Given the description of an element on the screen output the (x, y) to click on. 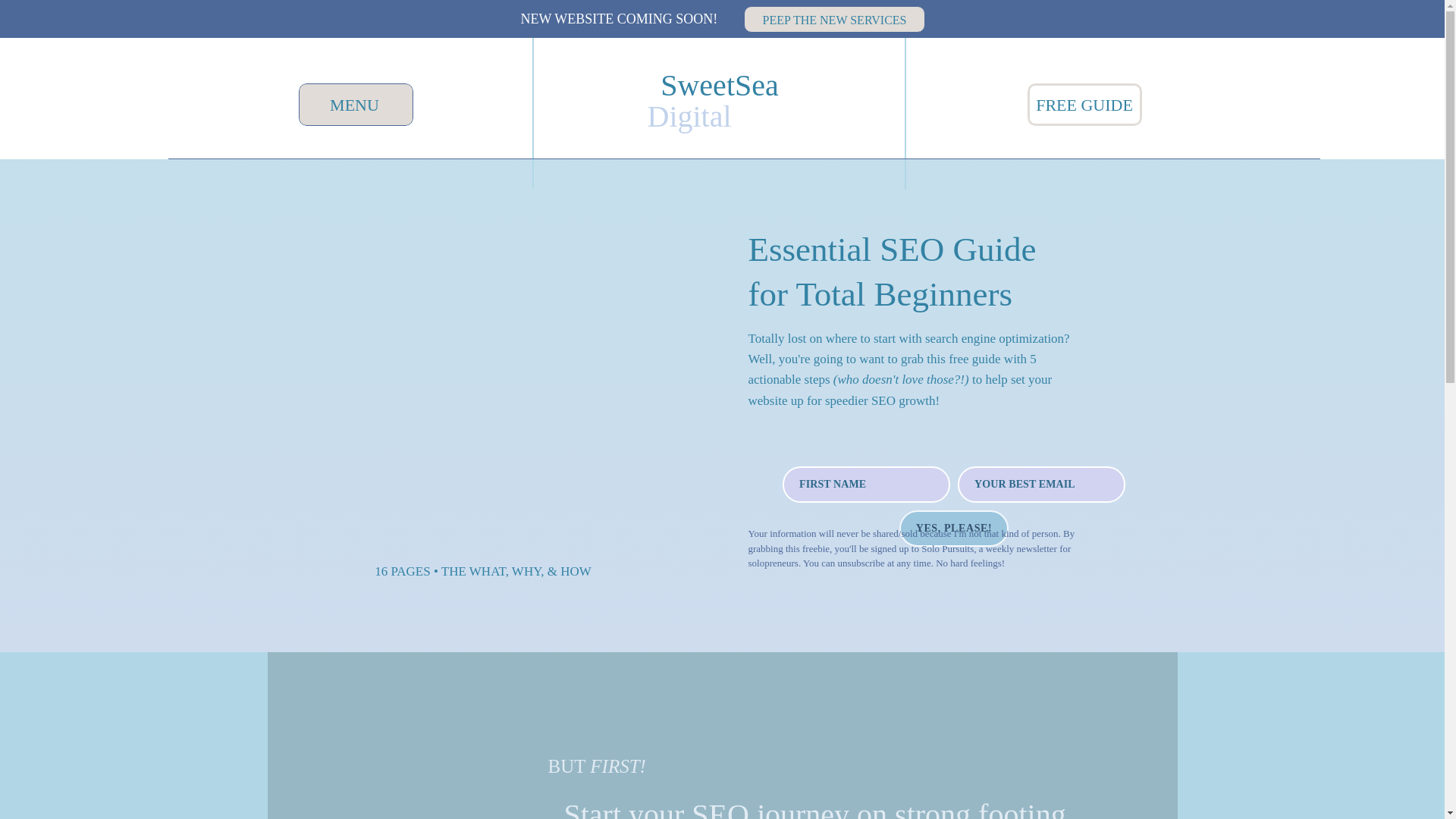
PEEP THE NEW SERVICES (833, 17)
Digital (726, 114)
SweetSea (719, 83)
YES, PLEASE! (954, 527)
FREE GUIDE (1083, 107)
